Given the description of an element on the screen output the (x, y) to click on. 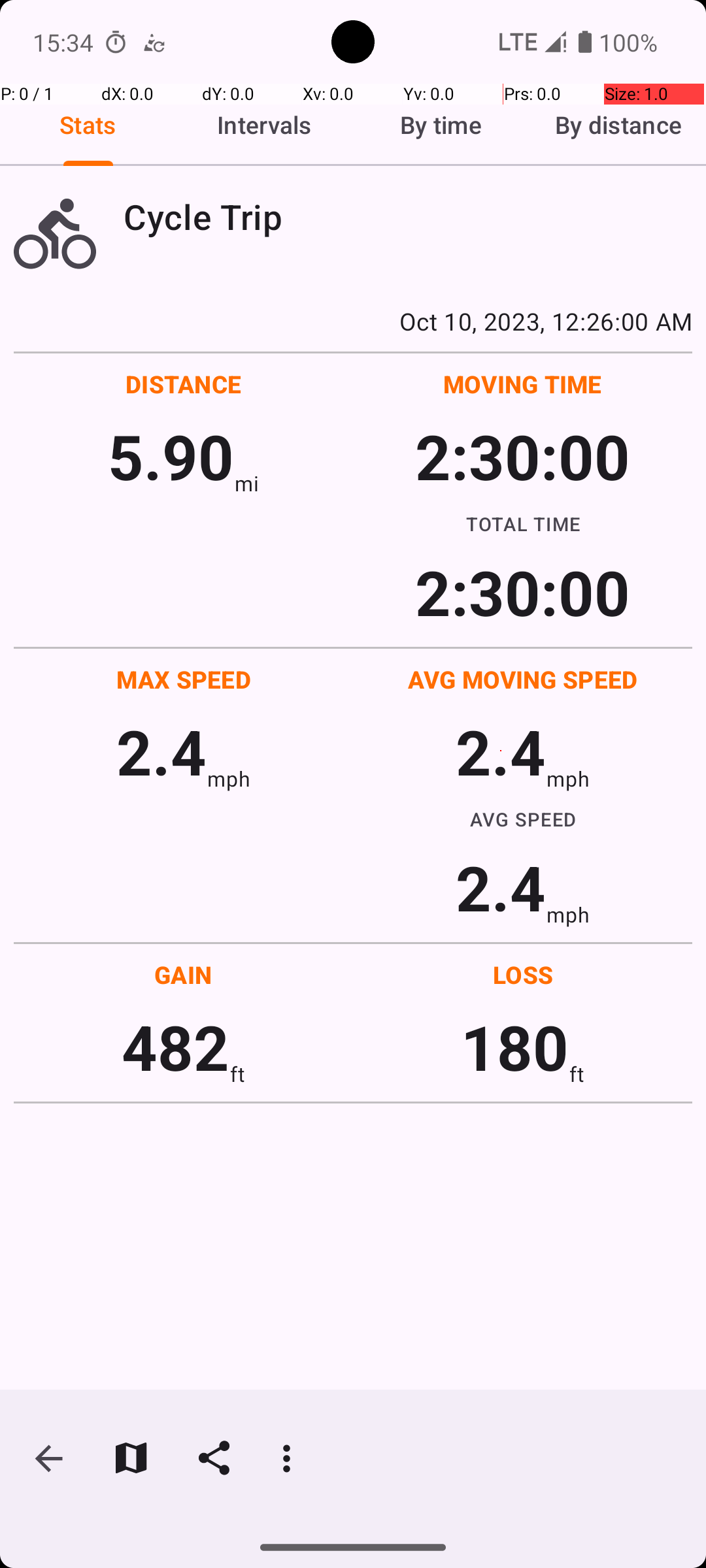
Oct 10, 2023, 12:26:00 AM Element type: android.widget.TextView (352, 320)
5.90 Element type: android.widget.TextView (170, 455)
2:30:00 Element type: android.widget.TextView (522, 455)
2.4 Element type: android.widget.TextView (161, 750)
482 Element type: android.widget.TextView (175, 1045)
180 Element type: android.widget.TextView (514, 1045)
